Given the description of an element on the screen output the (x, y) to click on. 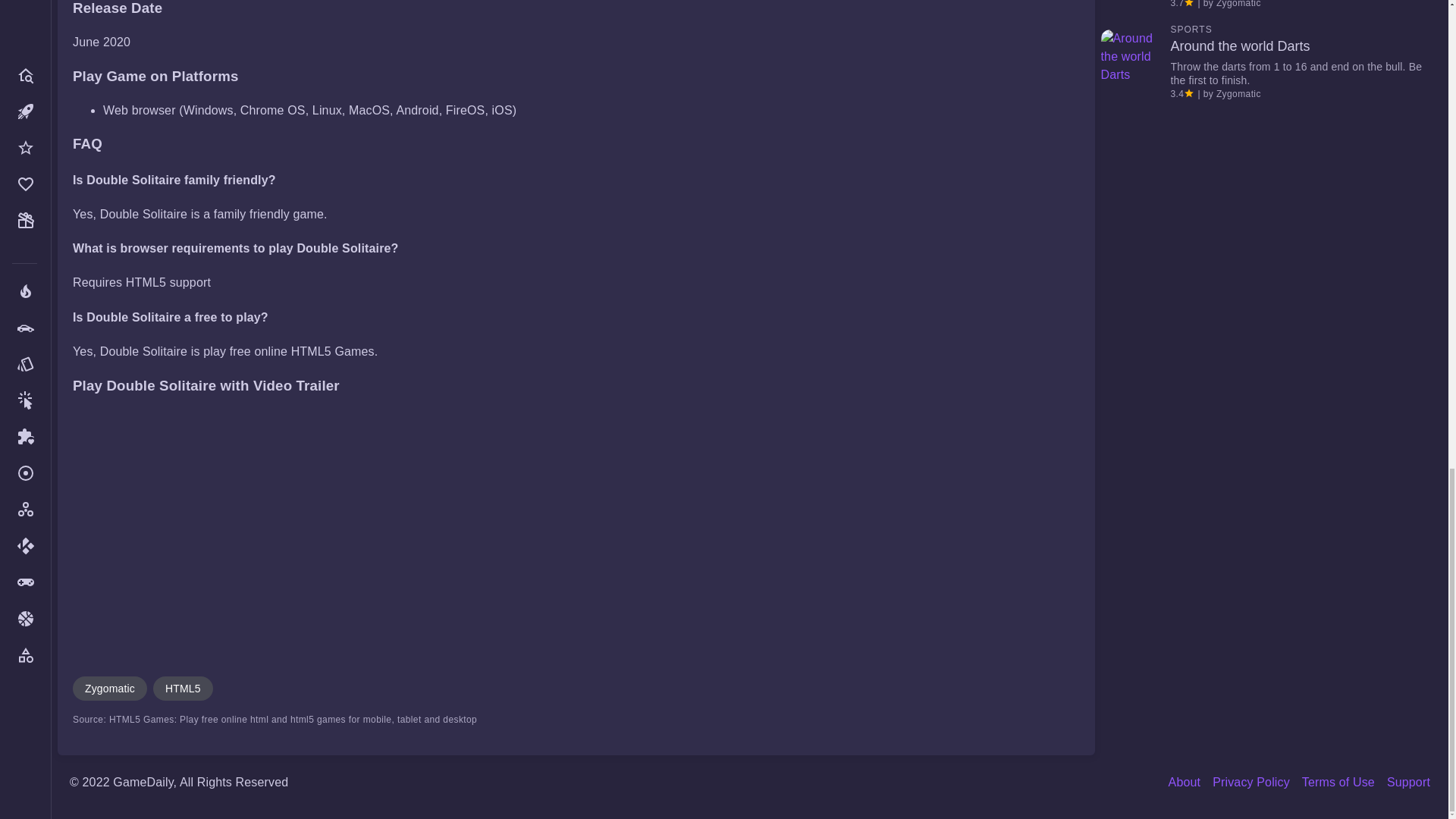
Double Solitaire (284, 530)
HTML5 (182, 688)
Zygomatic (109, 688)
